Given the description of an element on the screen output the (x, y) to click on. 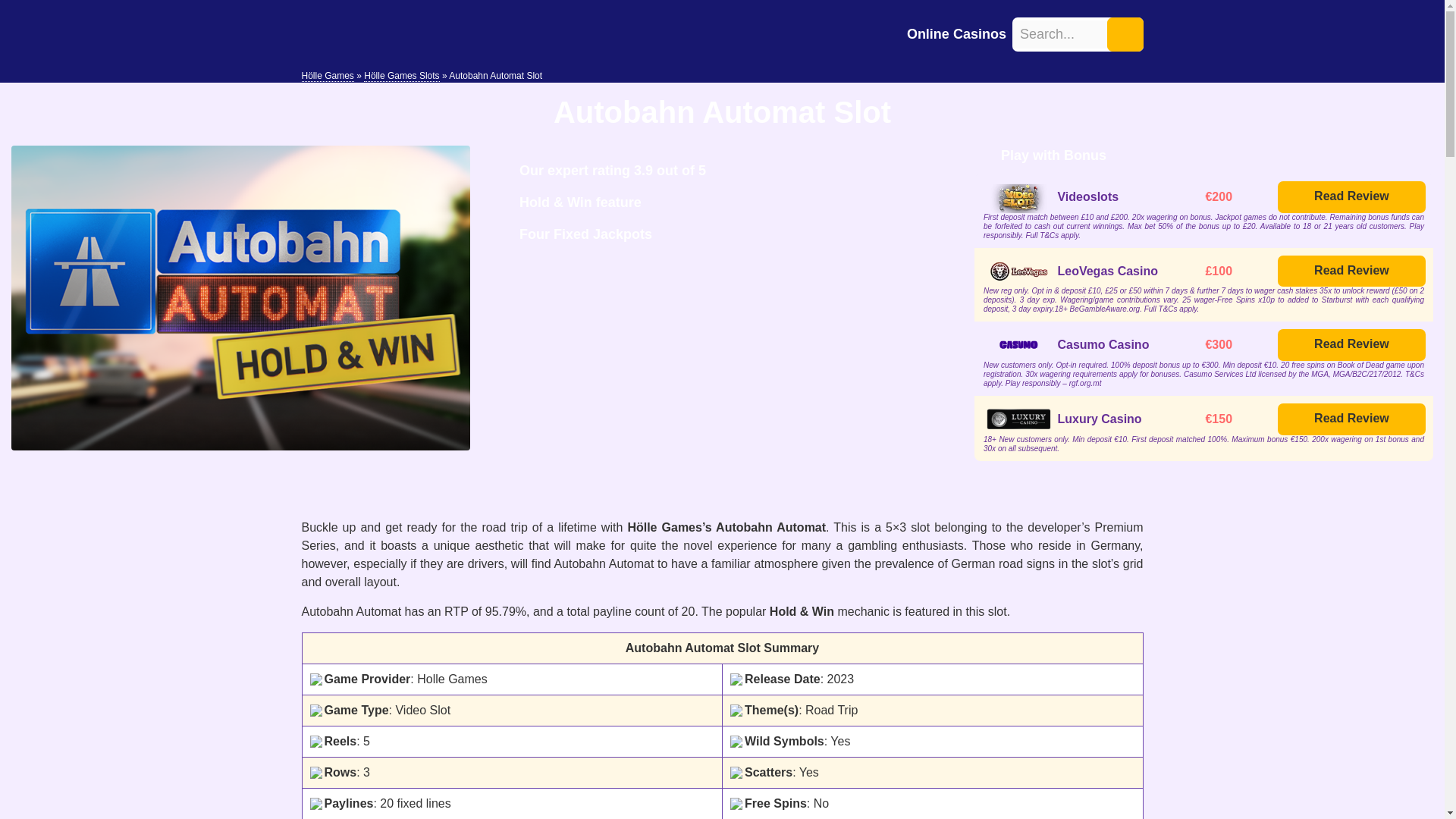
Online Casinos (956, 34)
Online Casinos (956, 34)
Search (1124, 33)
